Given the description of an element on the screen output the (x, y) to click on. 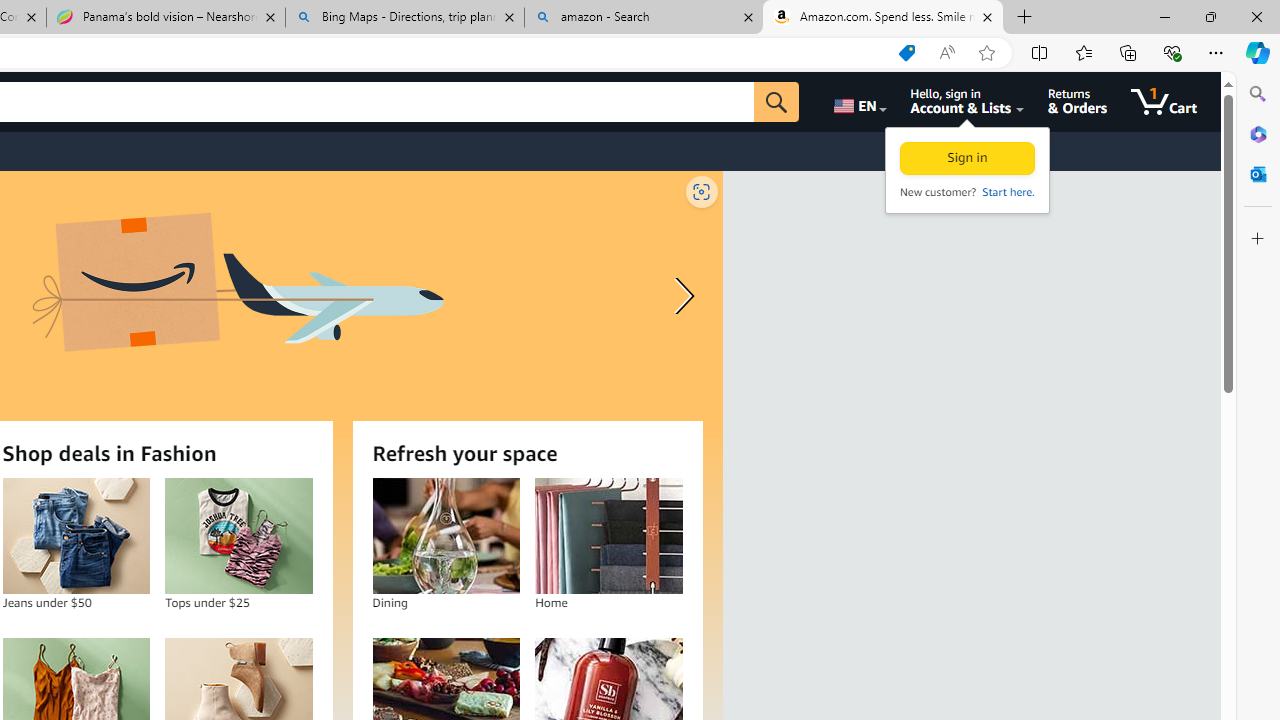
Hello, sign in Account & Lists (967, 101)
Start here. (1007, 191)
Next slide (680, 296)
Dining (445, 536)
amazon - Search (643, 17)
Returns & Orders (1077, 101)
Tops under $25 (239, 536)
Amazon.com. Spend less. Smile more. (883, 17)
Go (776, 101)
